Given the description of an element on the screen output the (x, y) to click on. 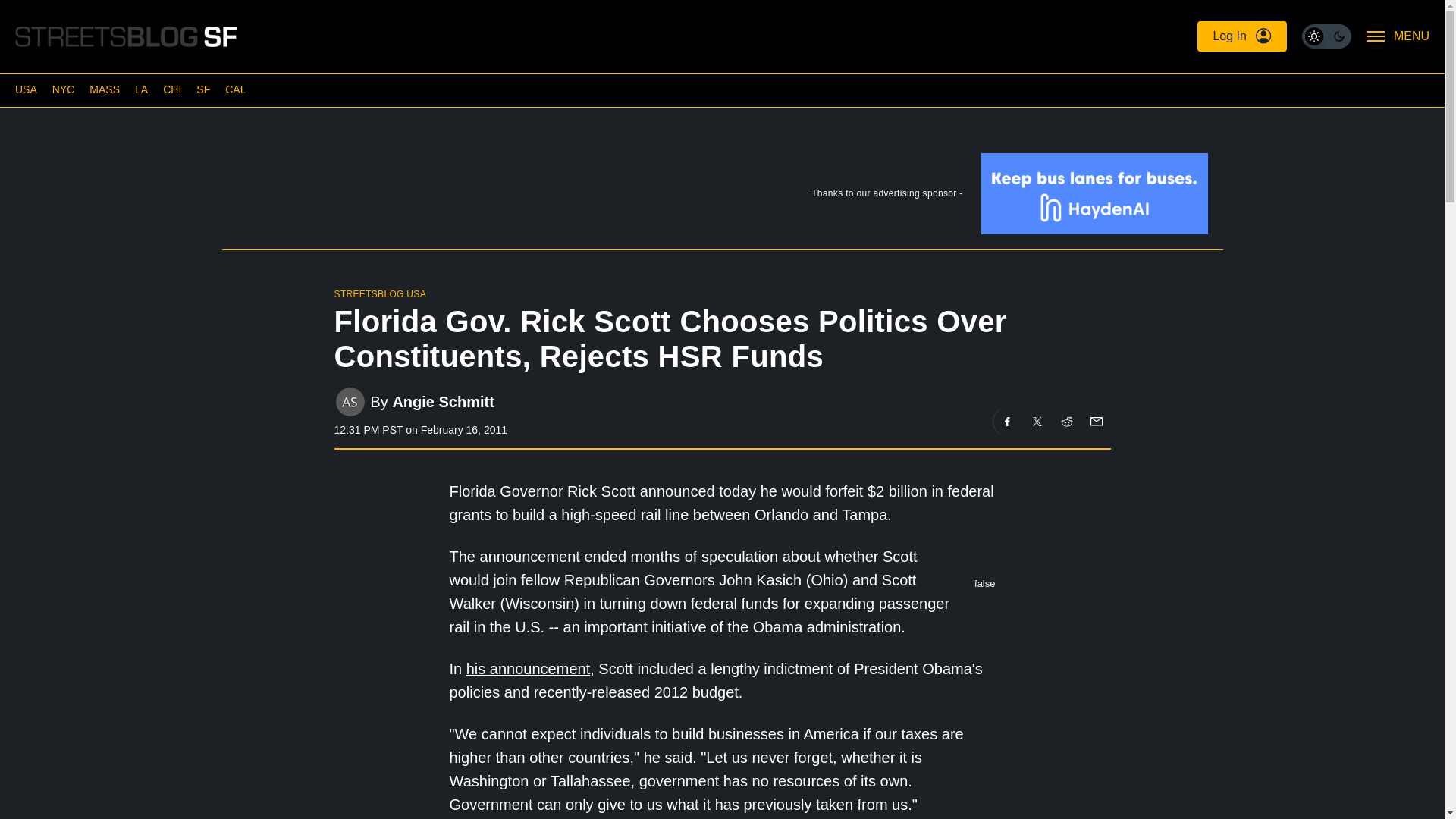
Share on Reddit (1066, 421)
MENU (1398, 36)
NYC (63, 89)
his announcement (527, 668)
STREETSBLOG USA (379, 294)
Thanks to our advertising sponsor - (721, 196)
CAL (235, 89)
Share on Facebook (1007, 421)
Angie Schmitt (442, 401)
Share on Email (1095, 421)
